Given the description of an element on the screen output the (x, y) to click on. 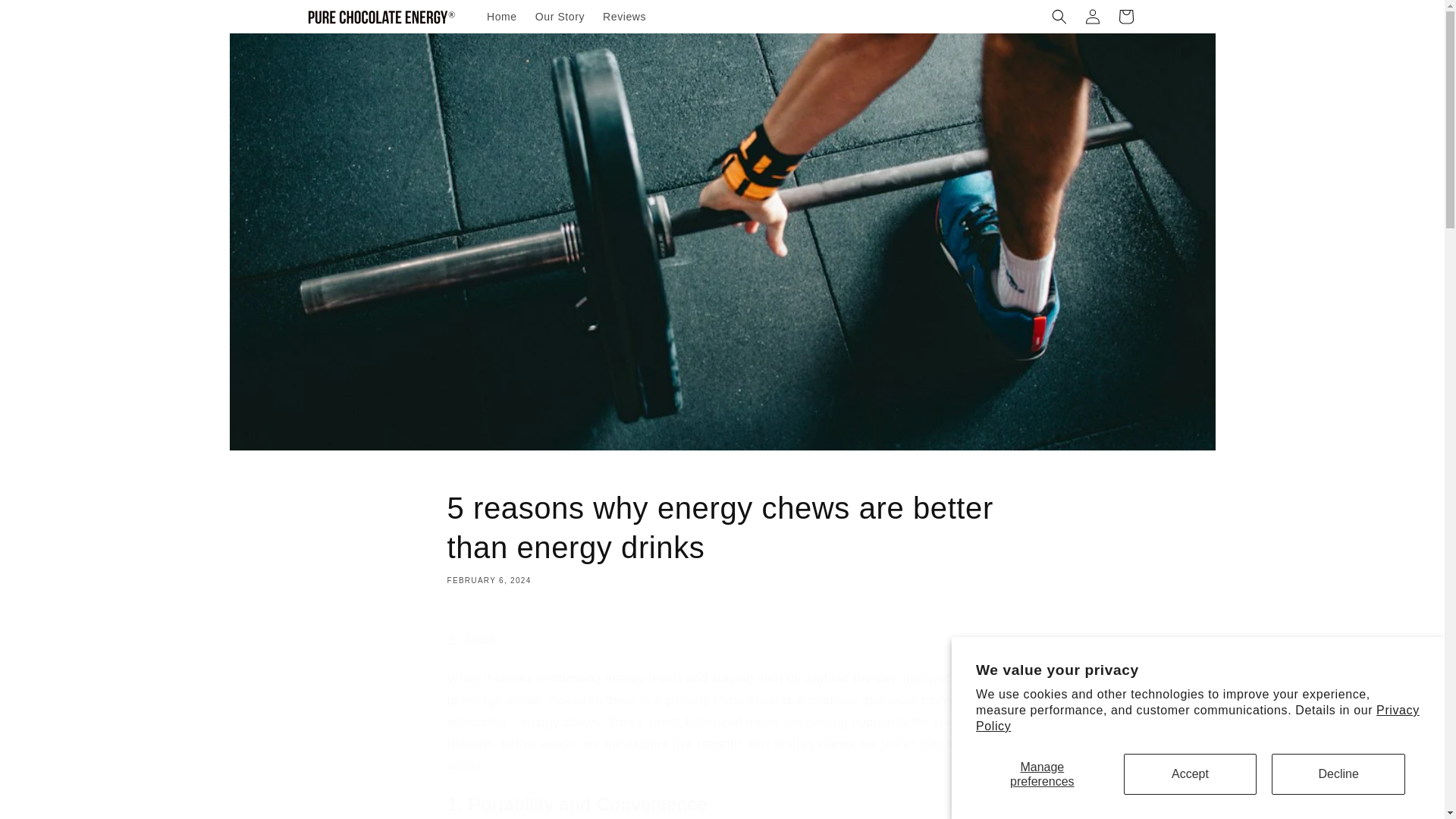
Share (721, 639)
Accept (1190, 773)
Our Story (559, 16)
Reviews (624, 16)
Skip to content (45, 17)
Decline (1338, 773)
Privacy Policy (1197, 717)
Home (501, 16)
Cart (1124, 16)
Log in (1091, 16)
Manage preferences (1041, 773)
